Given the description of an element on the screen output the (x, y) to click on. 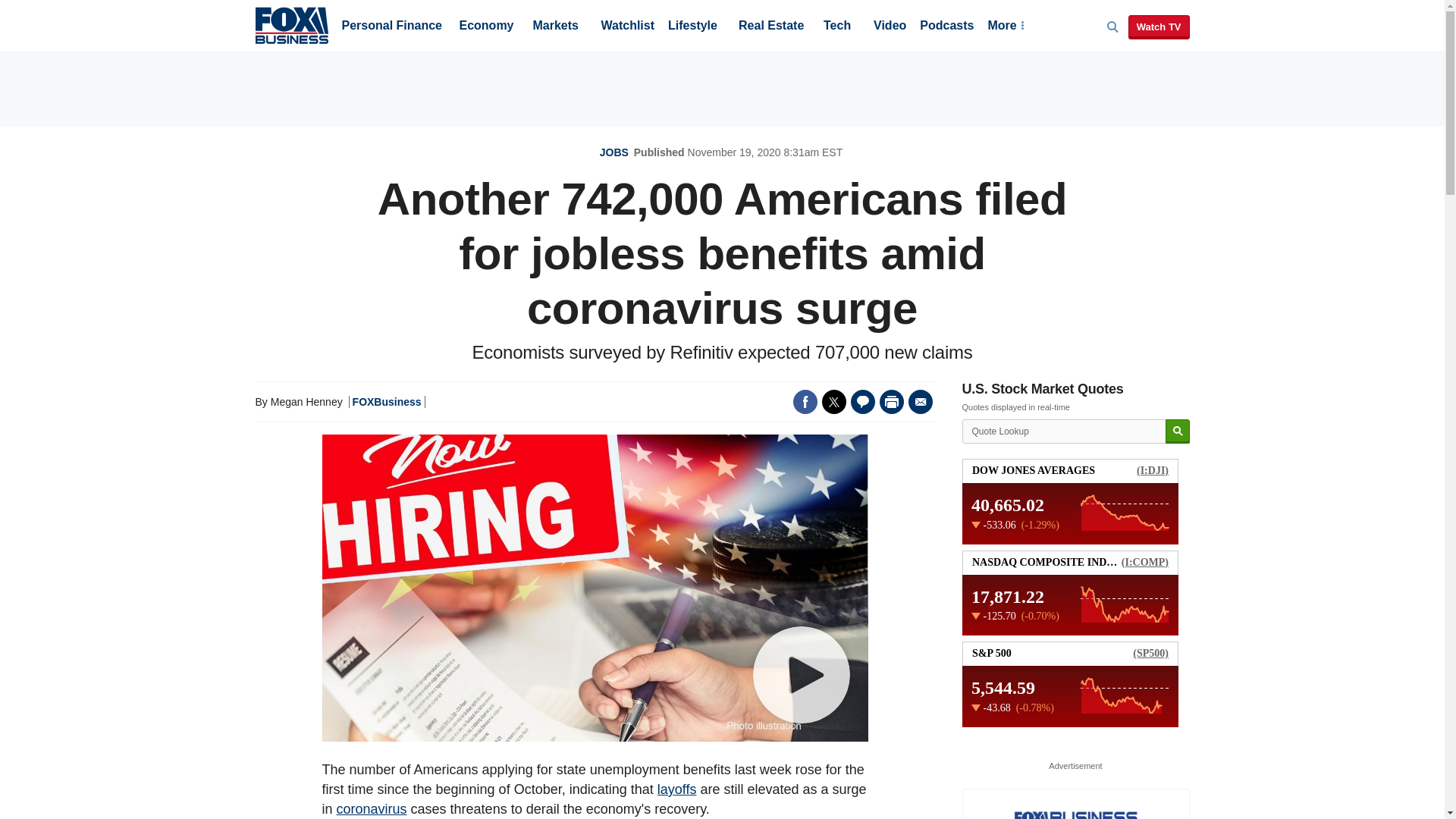
Personal Finance (391, 27)
Video (889, 27)
Real Estate (770, 27)
Markets (555, 27)
Podcasts (947, 27)
Tech (837, 27)
Watchlist (626, 27)
Search (1176, 431)
Lifestyle (692, 27)
Economy (486, 27)
Search (1176, 431)
Watch TV (1158, 27)
Fox Business (290, 24)
More (1005, 27)
